Given the description of an element on the screen output the (x, y) to click on. 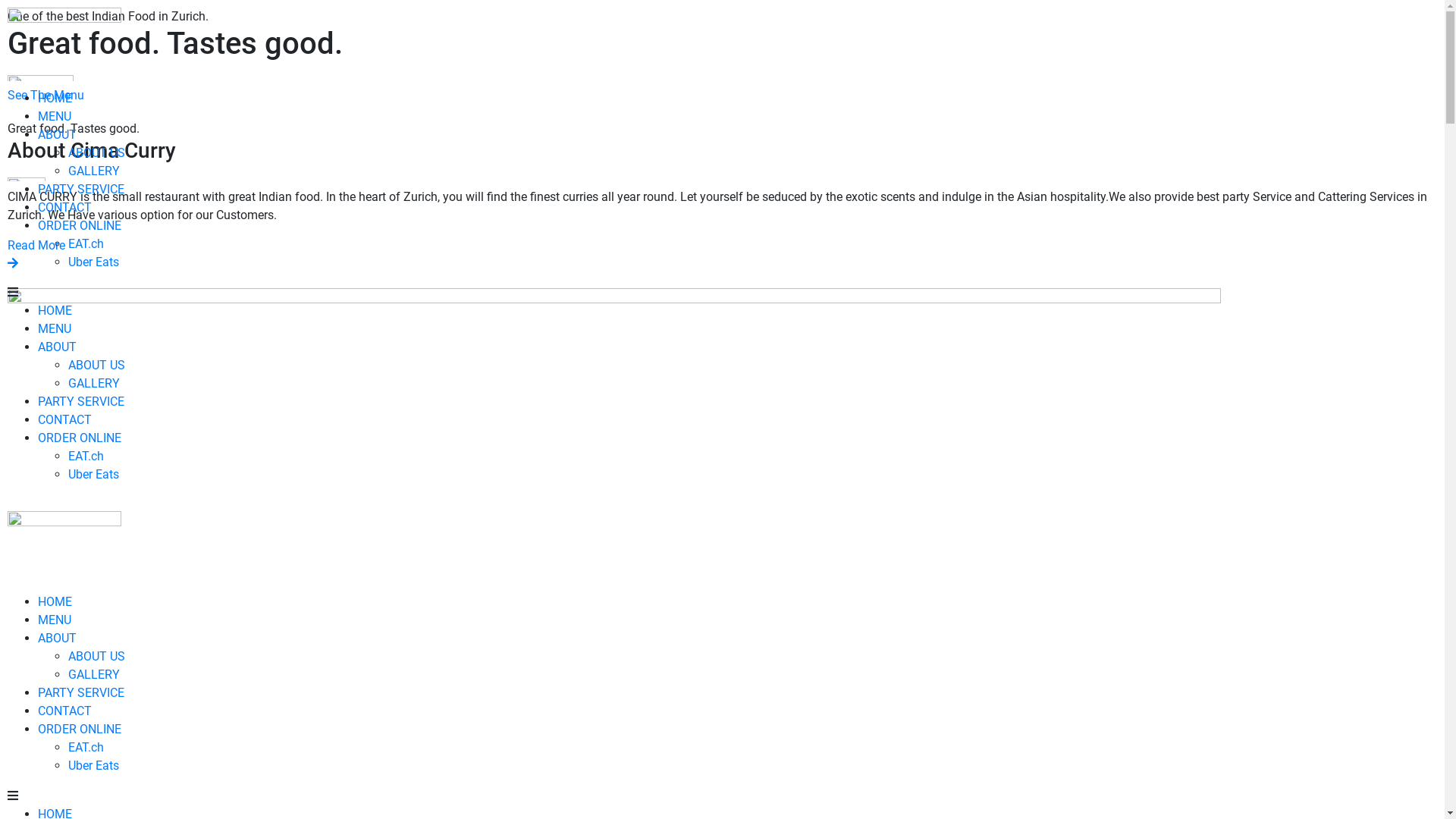
ABOUT US Element type: text (96, 152)
ABOUT Element type: text (56, 134)
ABOUT US Element type: text (96, 656)
HOME Element type: text (54, 310)
CONTACT Element type: text (64, 419)
EAT.ch Element type: text (85, 455)
GALLERY Element type: text (93, 383)
MENU Element type: text (54, 619)
ABOUT Element type: text (56, 637)
CONTACT Element type: text (64, 207)
MENU Element type: text (54, 328)
EAT.ch Element type: text (85, 747)
EAT.ch Element type: text (85, 243)
Read More Element type: text (722, 254)
ORDER ONLINE Element type: text (79, 225)
MENU Element type: text (54, 116)
ABOUT US Element type: text (96, 364)
CONTACT Element type: text (64, 710)
See The Menu Element type: text (722, 95)
PARTY SERVICE Element type: text (80, 692)
PARTY SERVICE Element type: text (80, 189)
ORDER ONLINE Element type: text (79, 728)
Uber Eats Element type: text (93, 474)
HOME Element type: text (54, 601)
PARTY SERVICE Element type: text (80, 401)
HOME Element type: text (54, 98)
ABOUT Element type: text (56, 346)
Uber Eats Element type: text (93, 765)
GALLERY Element type: text (93, 674)
ORDER ONLINE Element type: text (79, 437)
GALLERY Element type: text (93, 170)
Uber Eats Element type: text (93, 261)
